Given the description of an element on the screen output the (x, y) to click on. 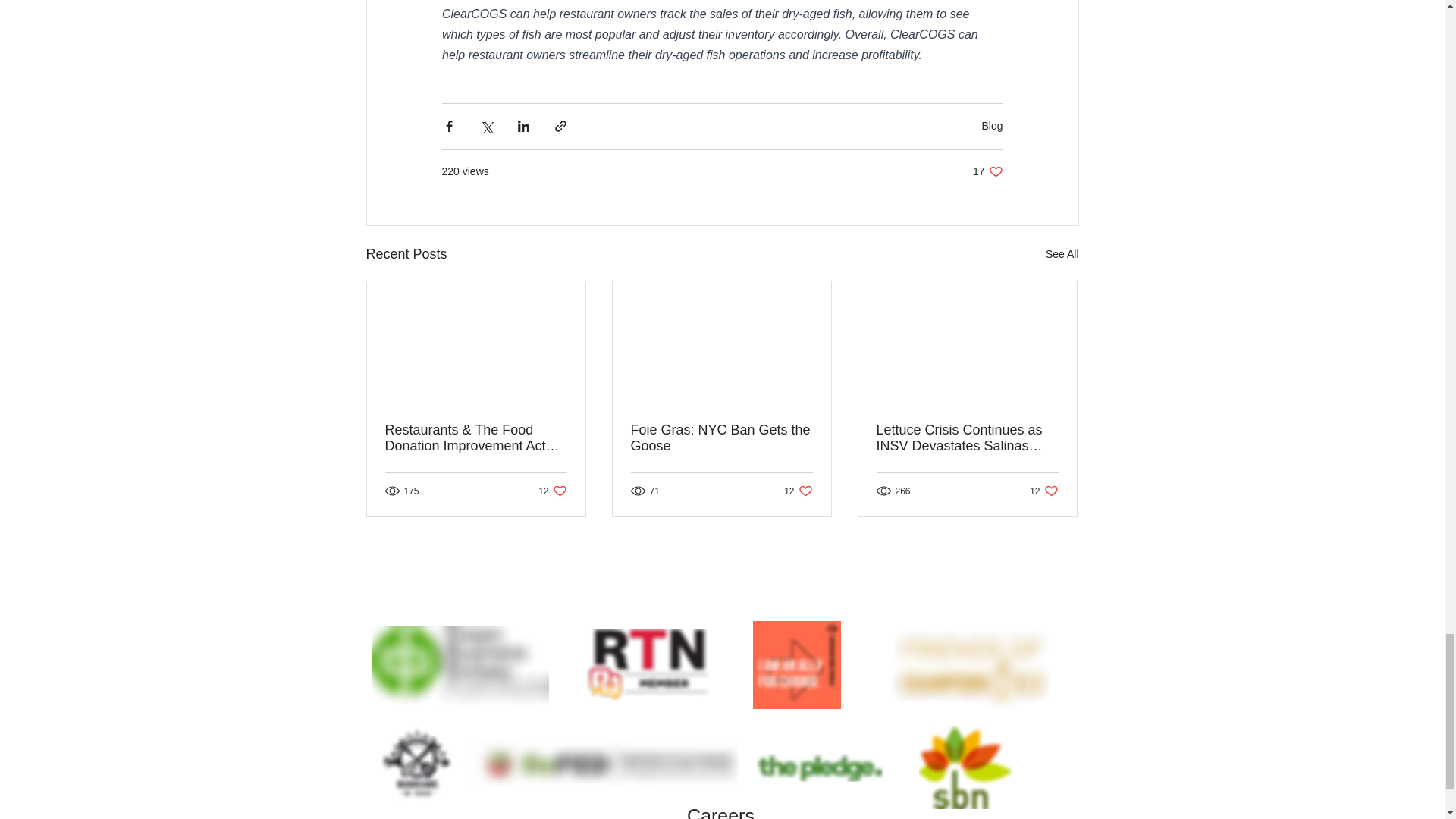
Blog (992, 125)
Foie Gras: NYC Ban Gets the Goose (987, 171)
See All (721, 438)
